Given the description of an element on the screen output the (x, y) to click on. 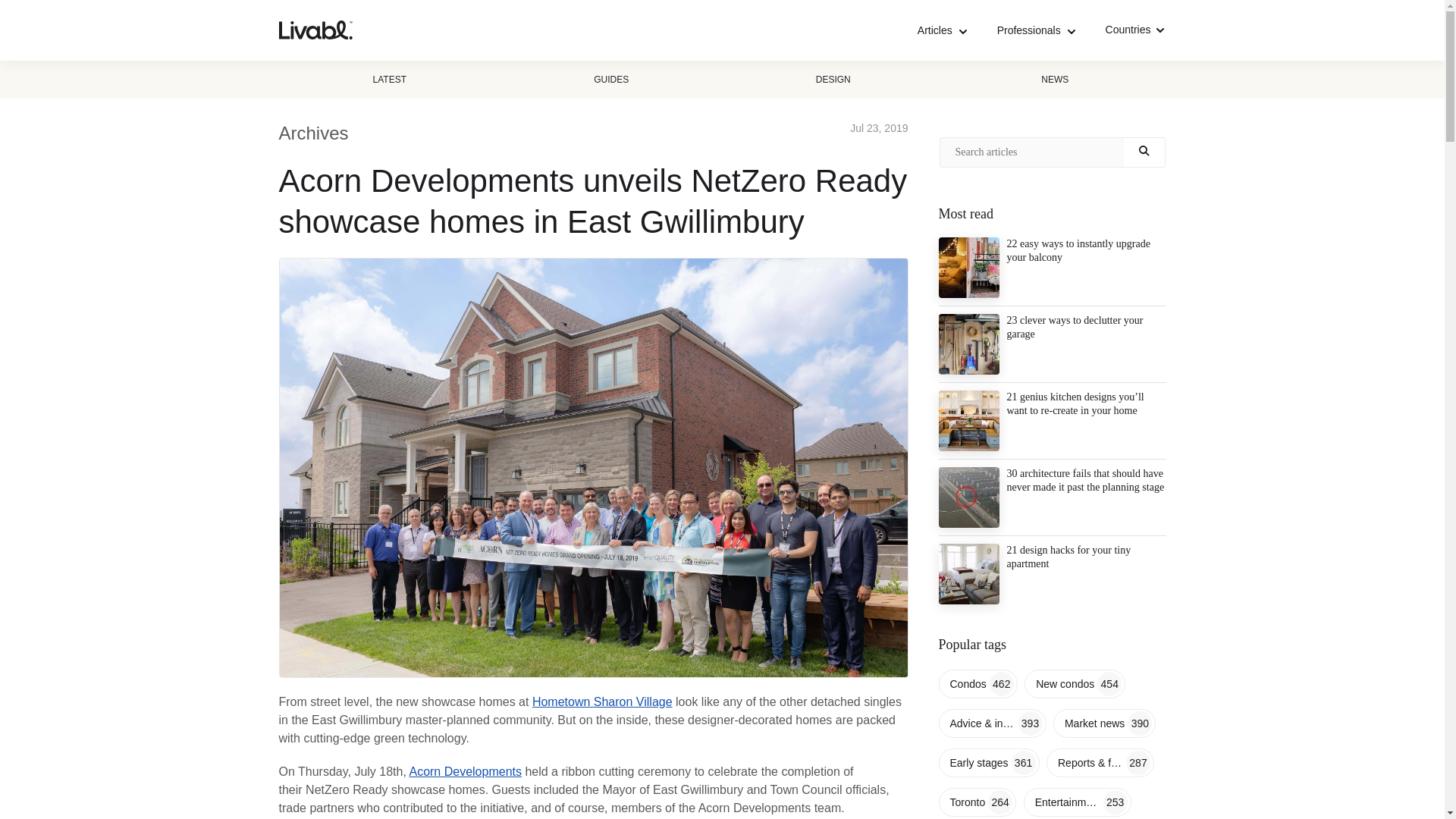
Professionals (1036, 30)
NEWS (1054, 79)
Articles (941, 30)
GUIDES (611, 79)
LATEST (389, 79)
DESIGN (832, 79)
